Given the description of an element on the screen output the (x, y) to click on. 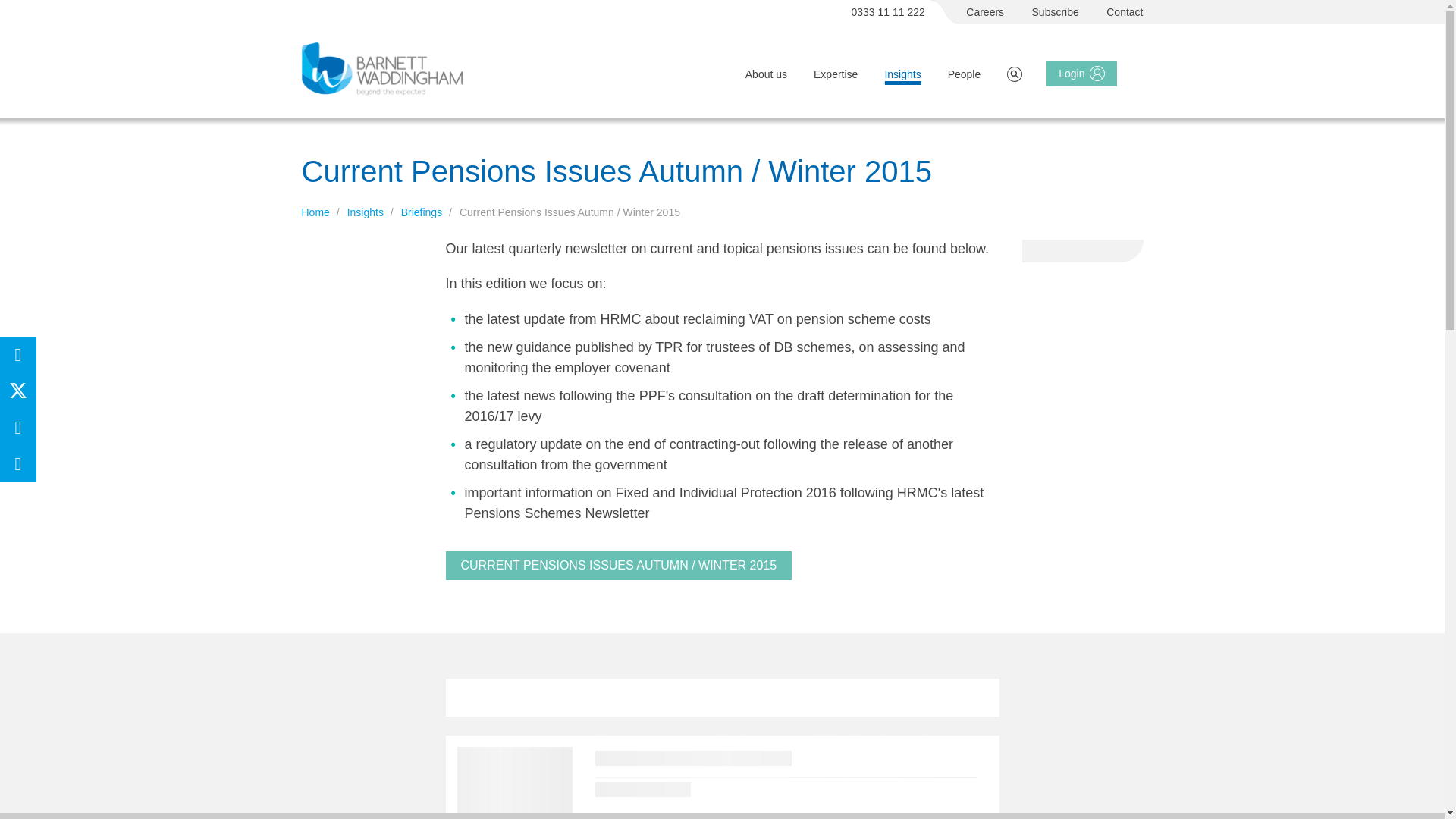
Expertise (835, 73)
Contact (1124, 12)
Careers (985, 12)
Subscribe (1055, 12)
0333 11 11 222 (889, 12)
About us (766, 73)
